Given the description of an element on the screen output the (x, y) to click on. 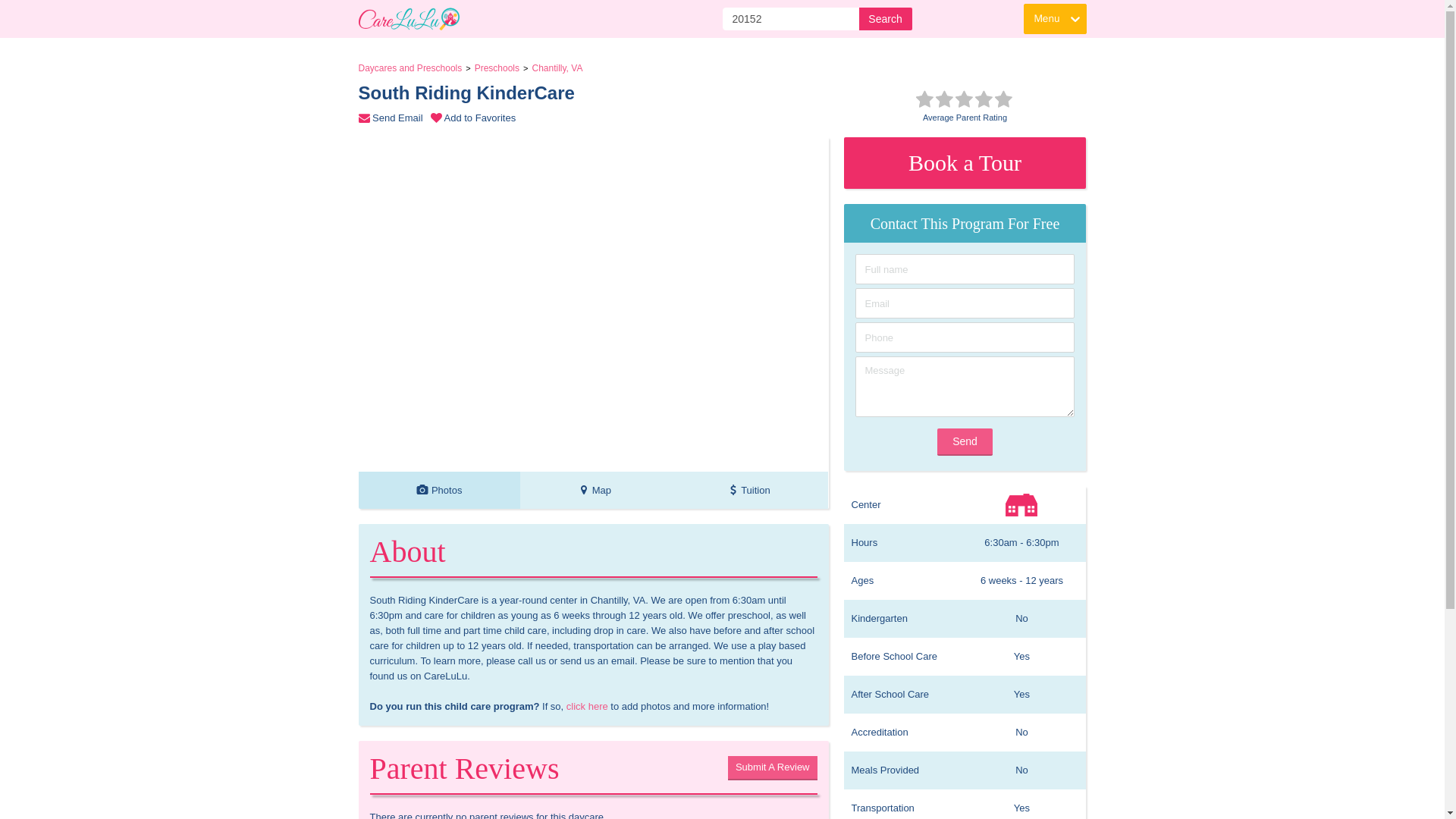
Book a Tour (964, 163)
Search (885, 18)
Preschools (496, 68)
Daycares and Preschools (393, 118)
click here (409, 68)
Chantilly, VA (587, 706)
Submit A Review (438, 489)
